Given the description of an element on the screen output the (x, y) to click on. 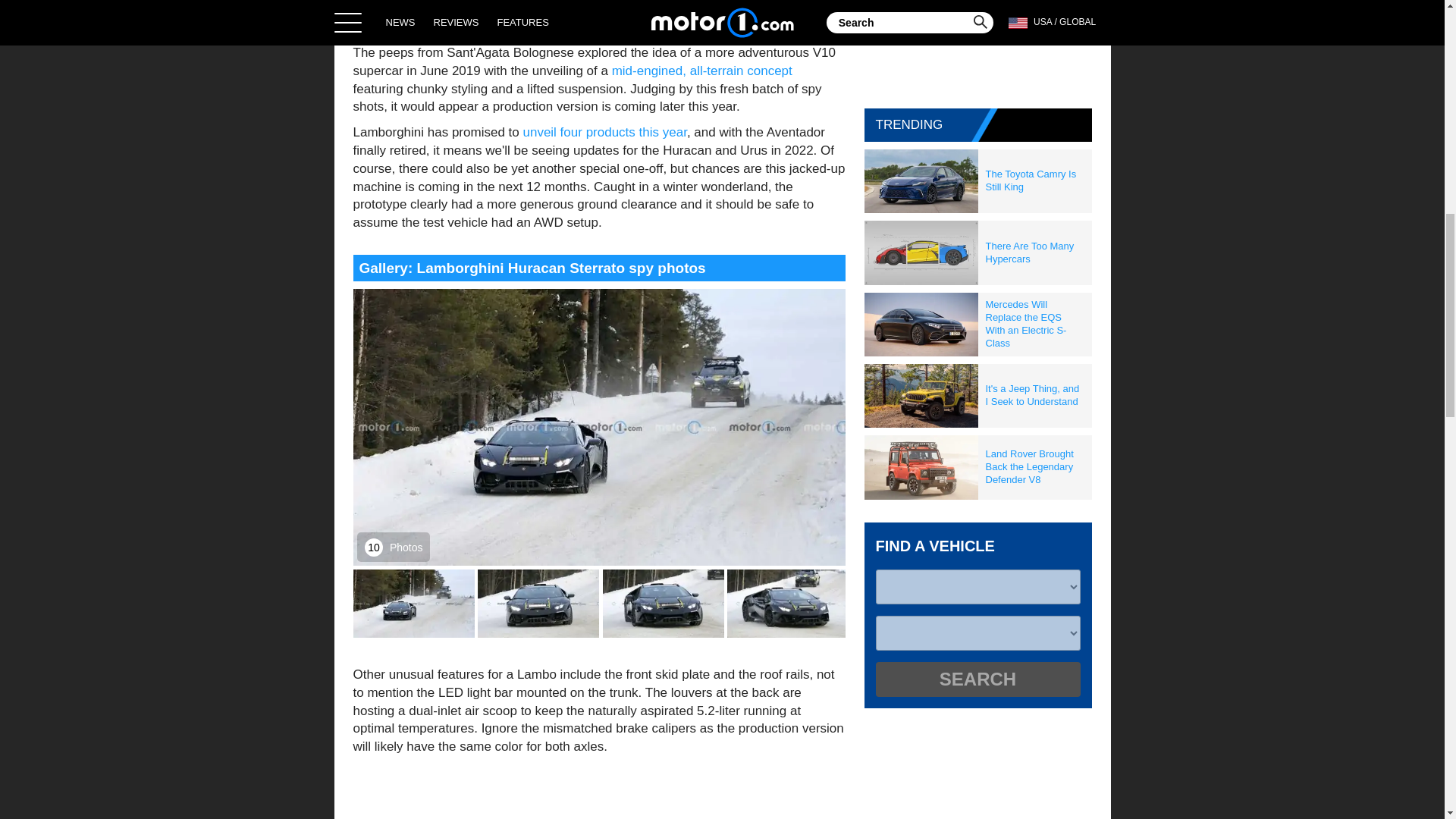
Search (977, 678)
mid-engined, all-terrain concept (701, 70)
unveil four products this year (603, 132)
